Given the description of an element on the screen output the (x, y) to click on. 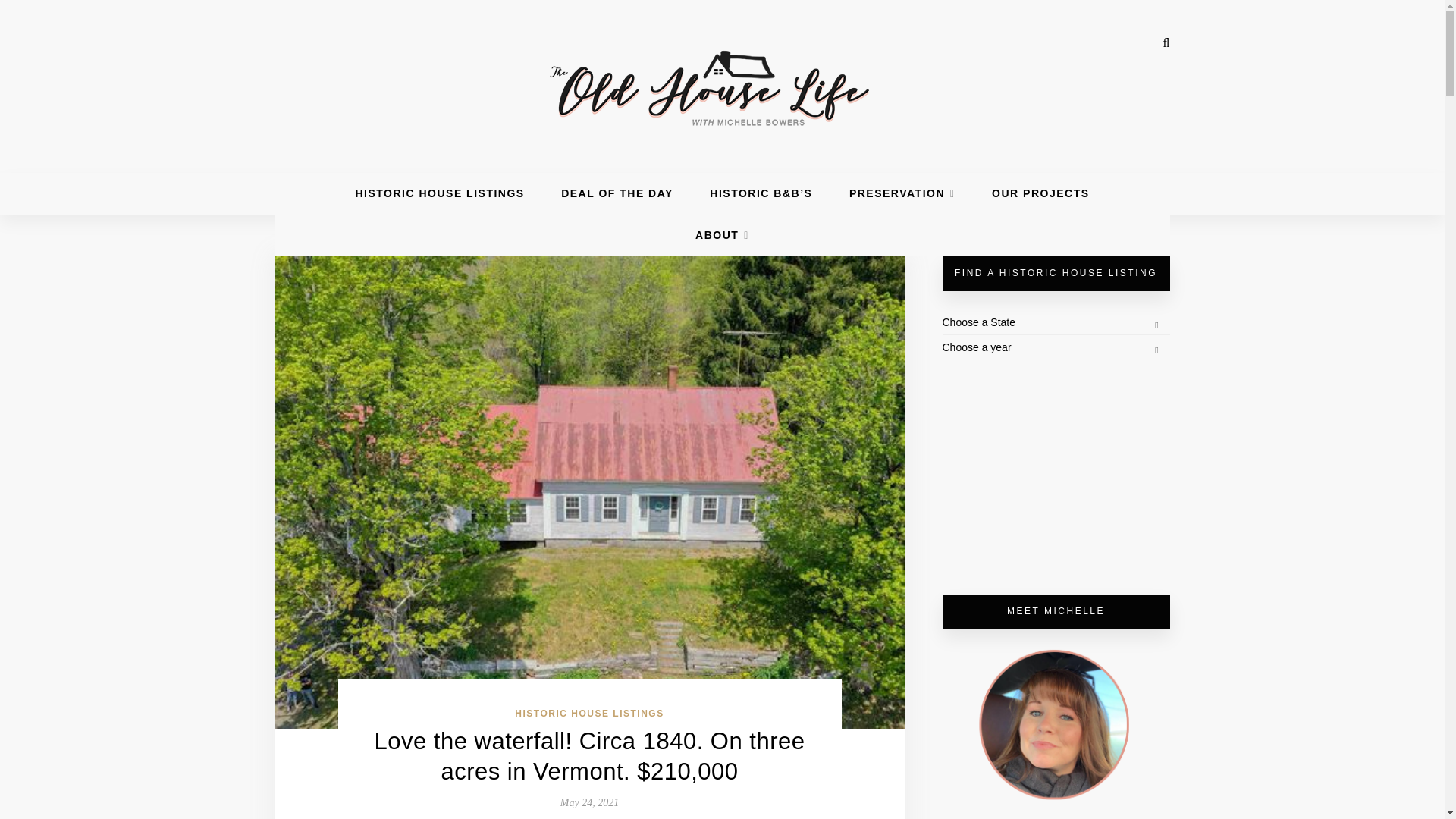
DEAL OF THE DAY (616, 192)
ABOUT (722, 235)
May 24, 2021 (589, 802)
HISTORIC HOUSE LISTINGS (589, 713)
OUR PROJECTS (1040, 192)
HISTORIC HOUSE LISTINGS (439, 192)
PRESERVATION (901, 193)
